Given the description of an element on the screen output the (x, y) to click on. 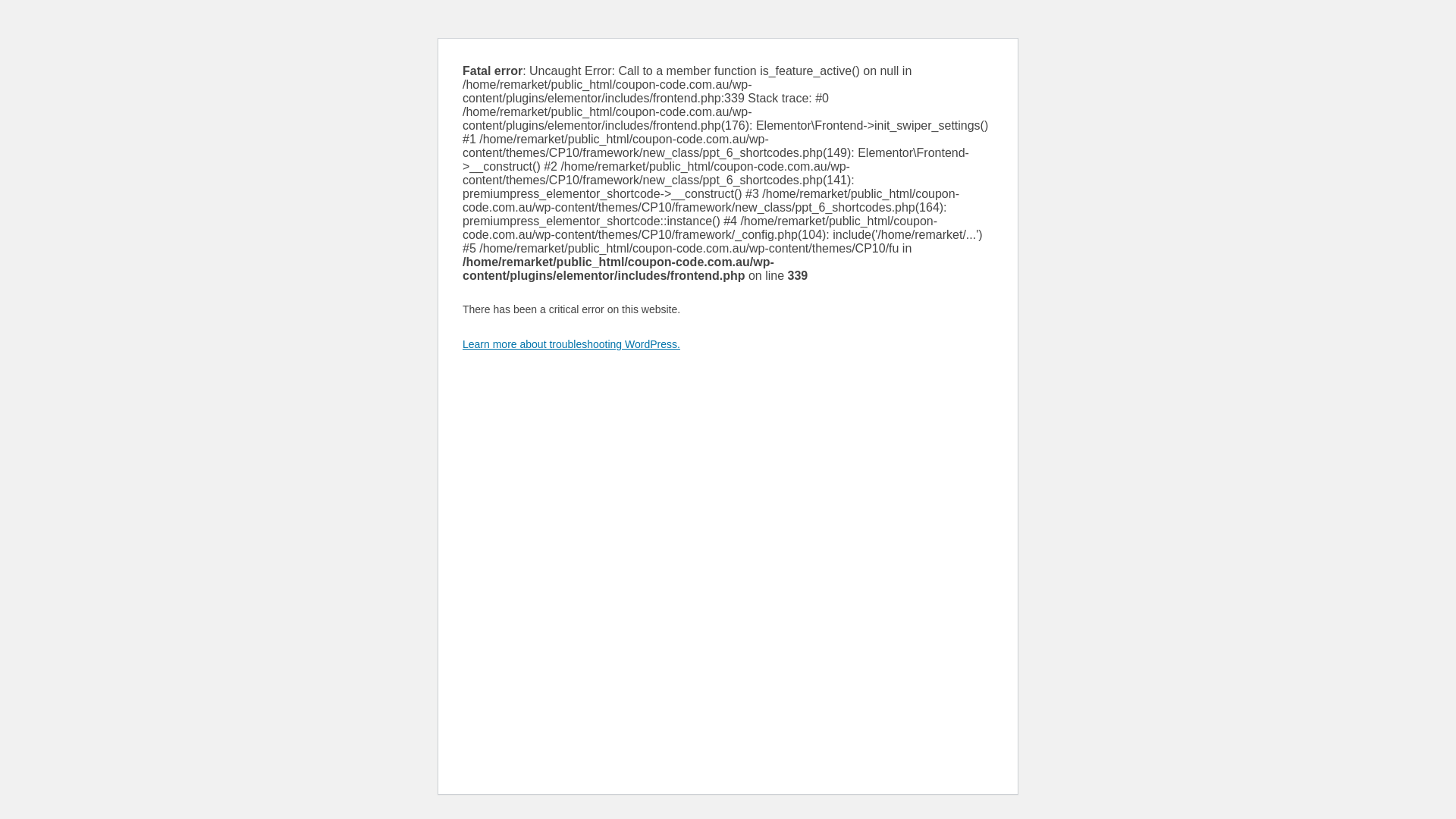
Learn more about troubleshooting WordPress. Element type: text (571, 344)
